Given the description of an element on the screen output the (x, y) to click on. 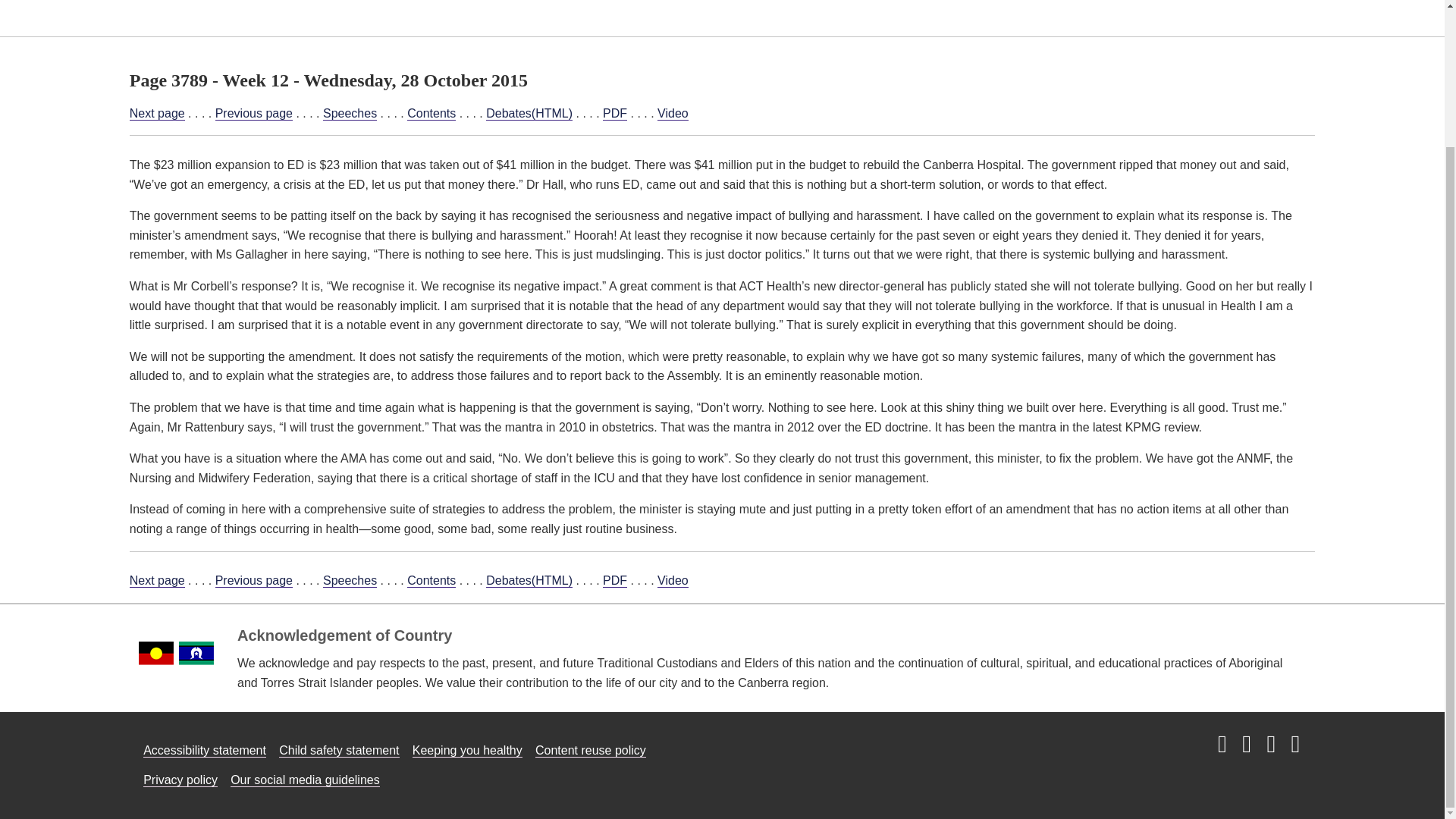
Questions (442, 11)
Video (673, 581)
Read our access and inclusion statement (204, 750)
PDF (614, 113)
Accessibility statement (204, 750)
Digest of Proceedings (793, 11)
Speeches (350, 113)
Previous page (253, 581)
Keeping you healthy (467, 750)
Read about how we're keeping our Assembly healthy (467, 750)
